Given the description of an element on the screen output the (x, y) to click on. 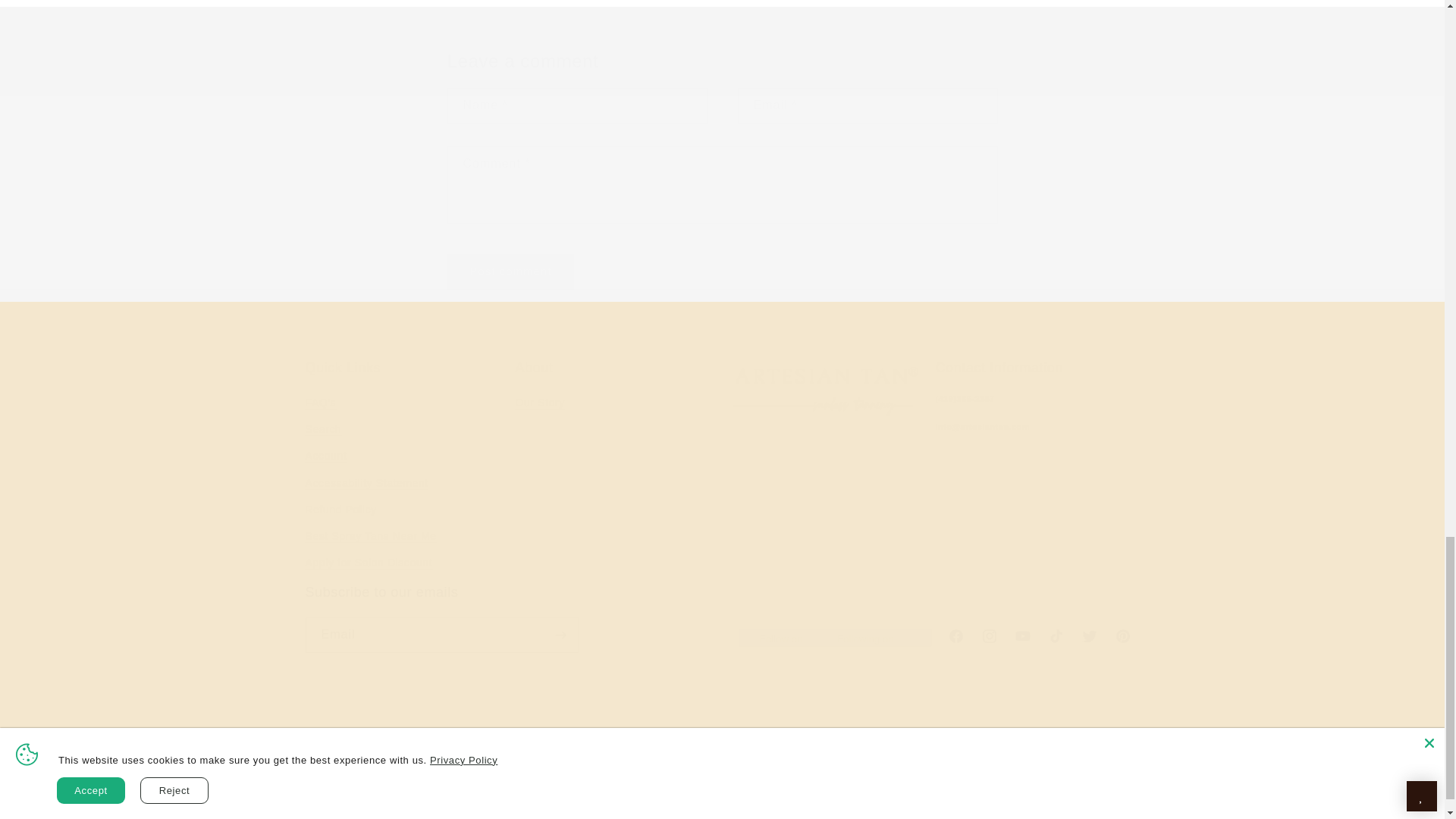
Post comment (617, 468)
